Given the description of an element on the screen output the (x, y) to click on. 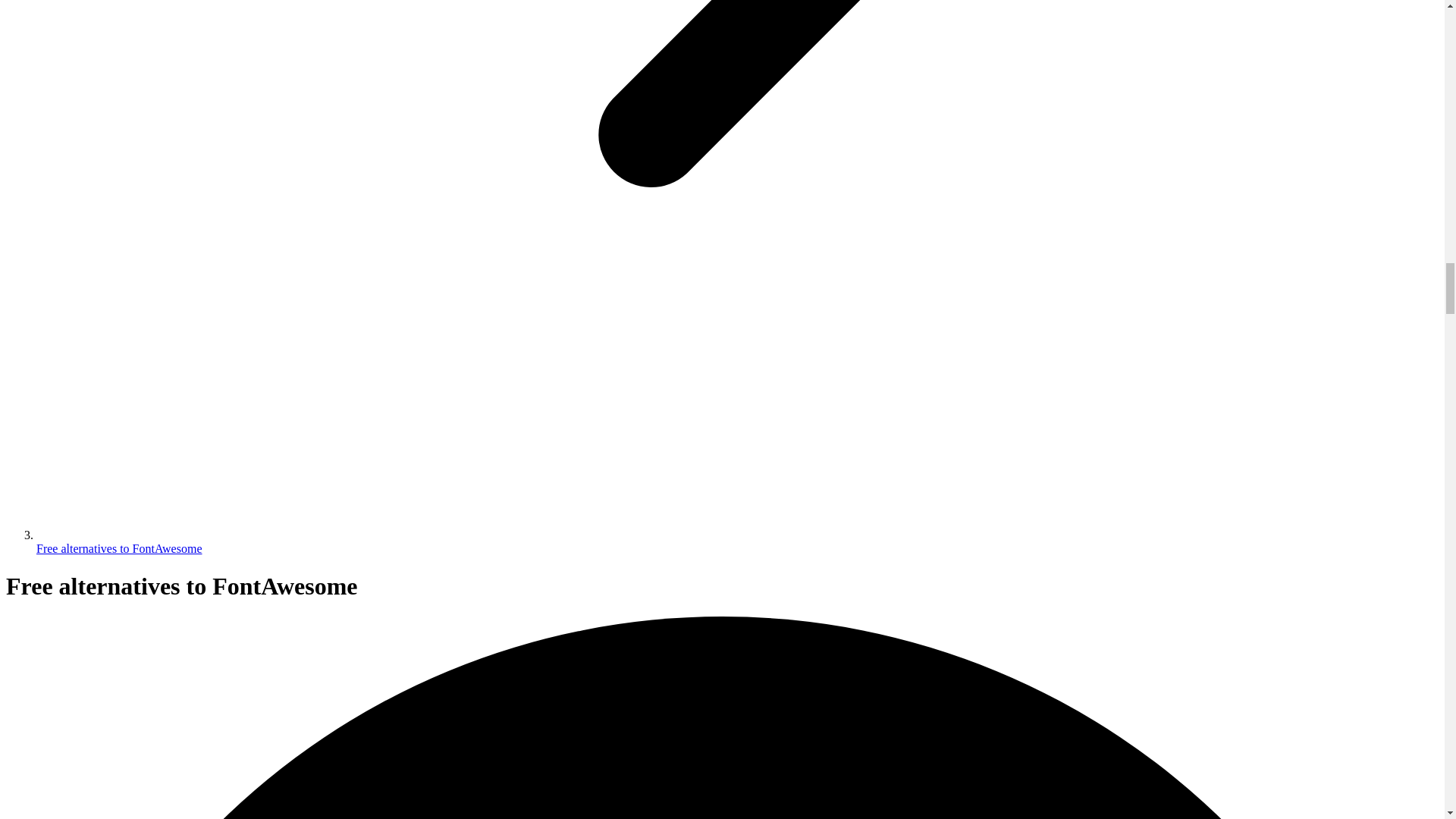
Free alternatives to FontAwesome (119, 548)
